Given the description of an element on the screen output the (x, y) to click on. 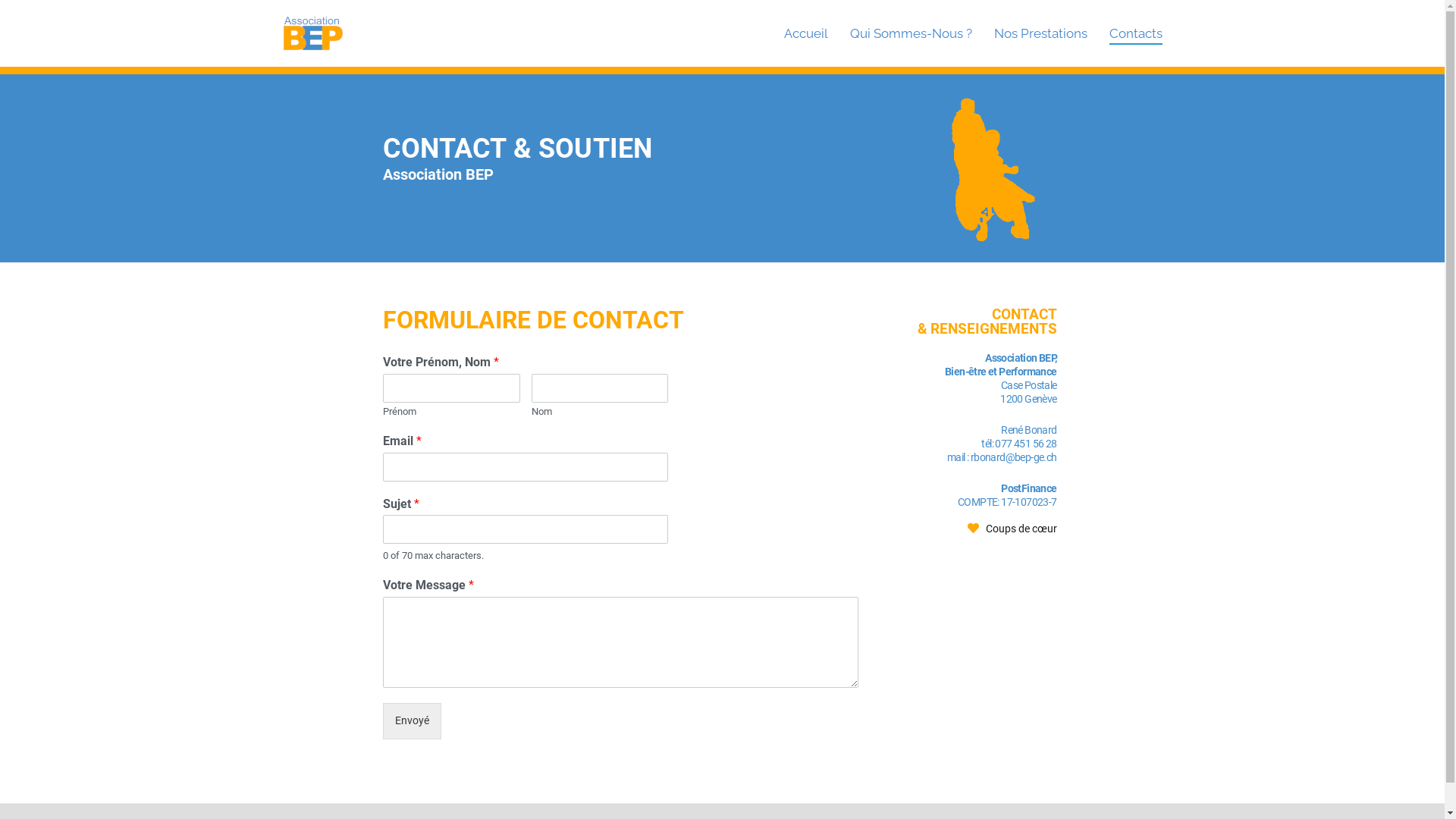
Contacts Element type: text (1134, 33)
Nos Prestations Element type: text (1040, 33)
Association BEP Element type: text (410, 43)
Accueil Element type: text (806, 33)
Qui Sommes-Nous ? Element type: text (911, 33)
